Given the description of an element on the screen output the (x, y) to click on. 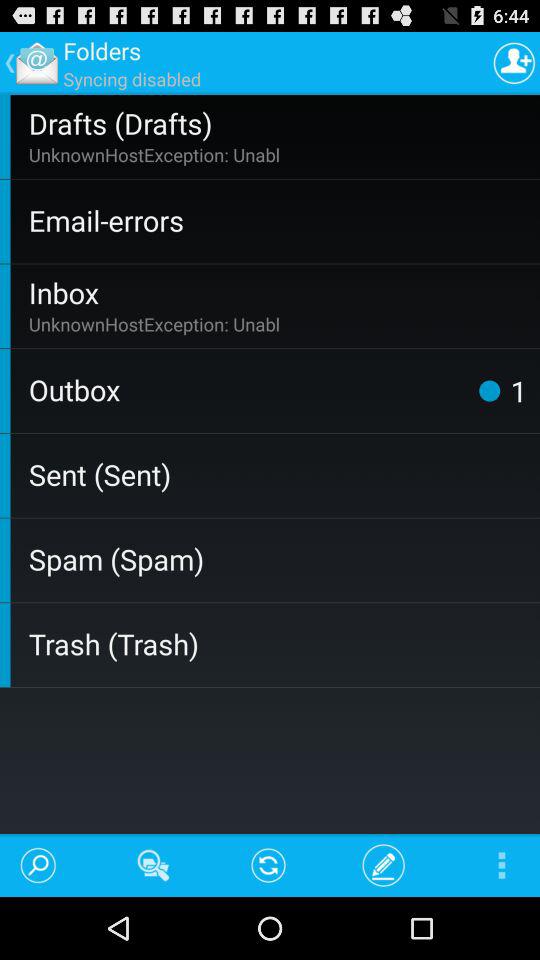
jump to the email-errors icon (280, 219)
